Given the description of an element on the screen output the (x, y) to click on. 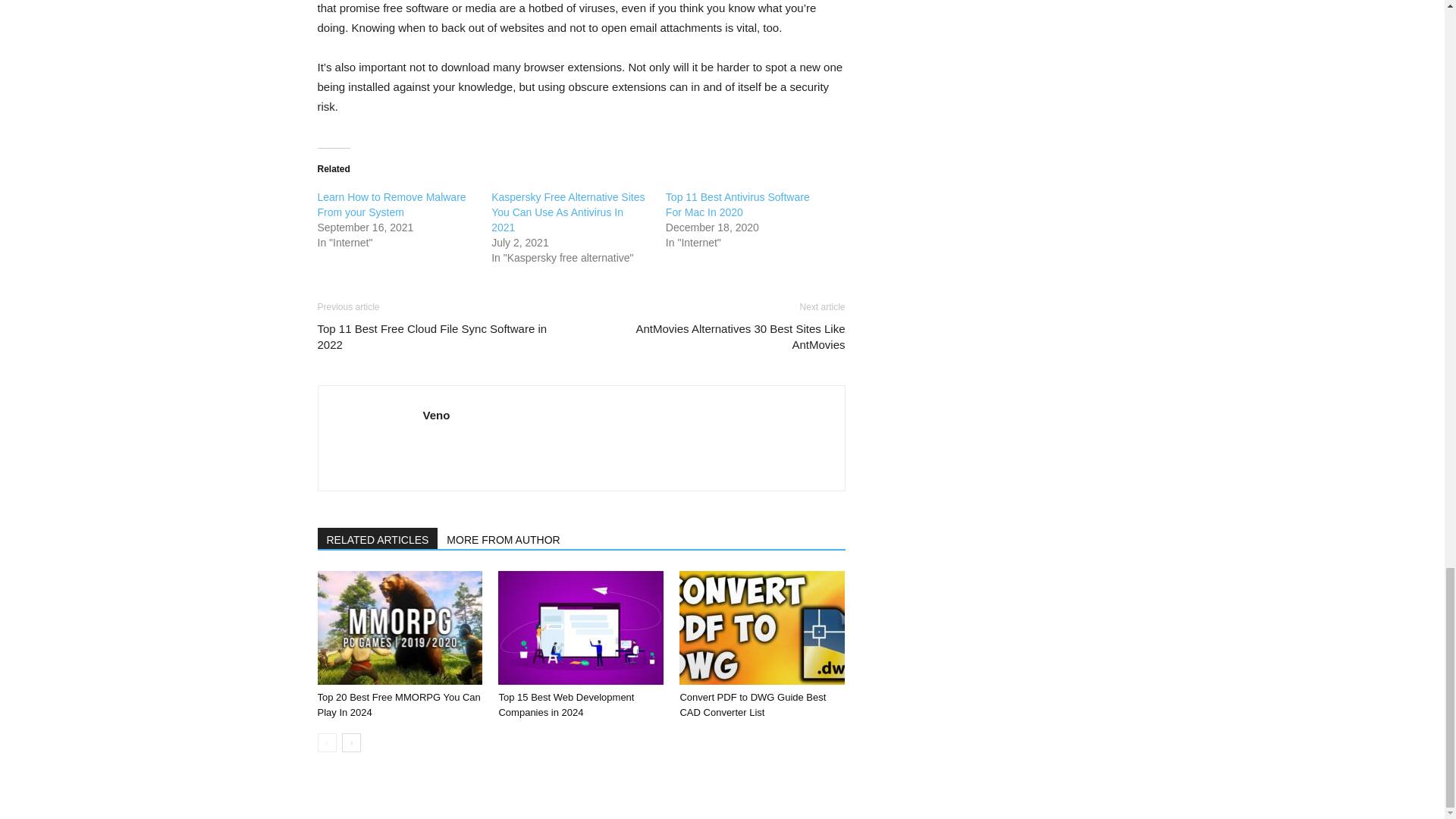
Top 20 Best Free MMORPG You Can Play In 2024 (398, 704)
AntMovies Alternatives 30 Best Sites Like AntMovies (721, 336)
Top 11 Best Free Cloud File Sync Software in 2022 (439, 336)
Top 15 Best Web Development Companies in 2024 (565, 704)
Top 11 Best Antivirus Software For Mac In 2020 (737, 204)
Learn How to Remove Malware From your System (391, 204)
Top 20 Best Free MMORPG You Can Play In 2024 (399, 627)
Top 20 Best Free MMORPG You Can Play In 2024 (398, 704)
Veno (436, 414)
Top 15 Best Web Development Companies in 2024 (580, 627)
Learn How to Remove Malware From your System (391, 204)
Top 11 Best Antivirus Software For Mac In 2020 (737, 204)
MORE FROM AUTHOR (503, 537)
